Given the description of an element on the screen output the (x, y) to click on. 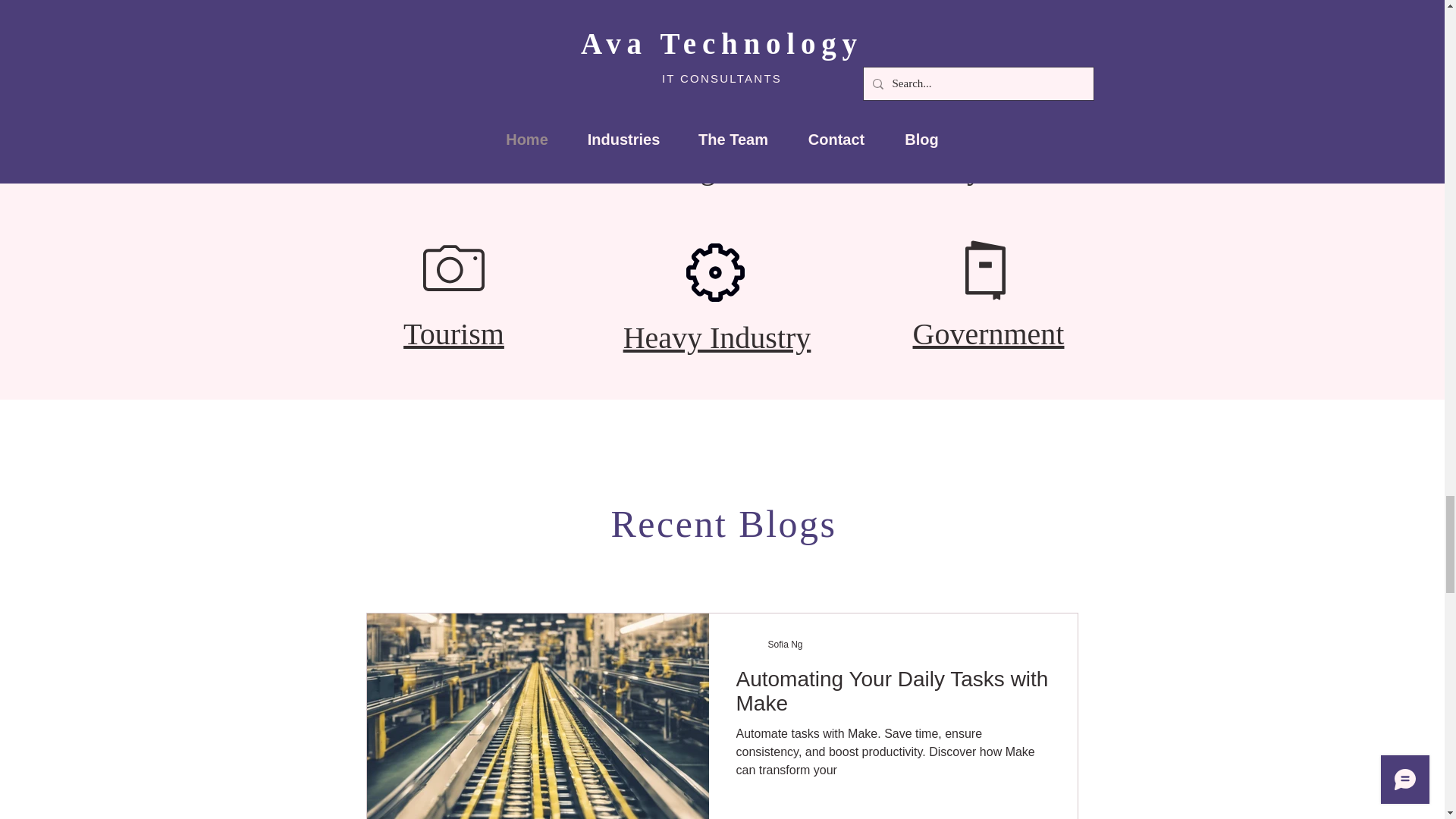
Retail (453, 168)
Logistics (721, 168)
Primary Industries (996, 168)
Follow Us (722, 679)
Government (988, 333)
Tourism (453, 333)
Automating Your Daily Tasks with Make (892, 695)
Sofia Ng (784, 644)
Heavy Industry (716, 337)
